Given the description of an element on the screen output the (x, y) to click on. 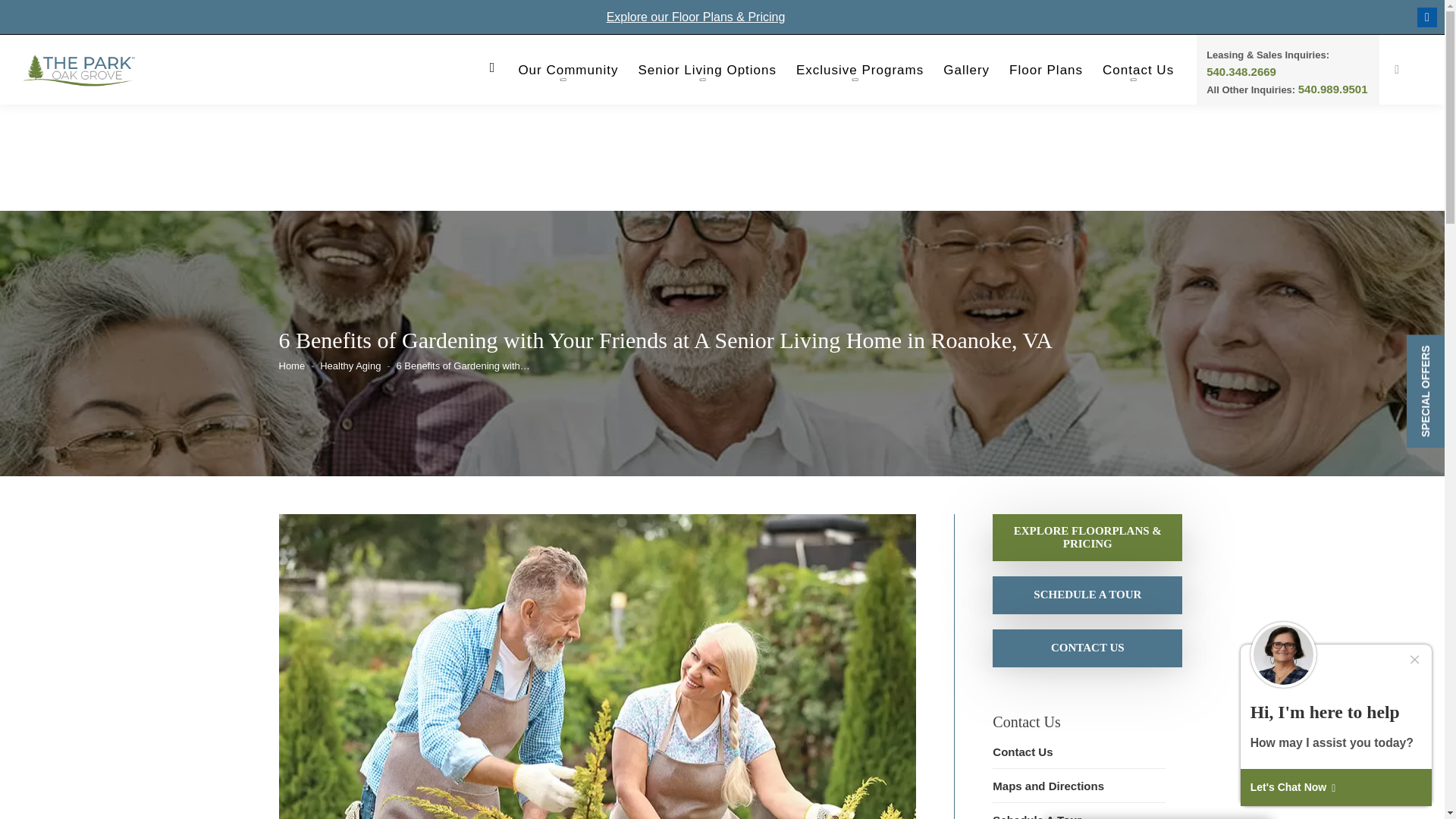
Contact Us (1087, 646)
540.348.2669 (1241, 71)
Facebook page opens in new window (1426, 17)
Our Community (567, 73)
Contact Us (1137, 73)
Floor Plans (1046, 73)
Senior Living Options (706, 73)
Facebook page opens in new window (1426, 17)
540.989.9501 (1333, 89)
Exclusive Programs (859, 73)
